Given the description of an element on the screen output the (x, y) to click on. 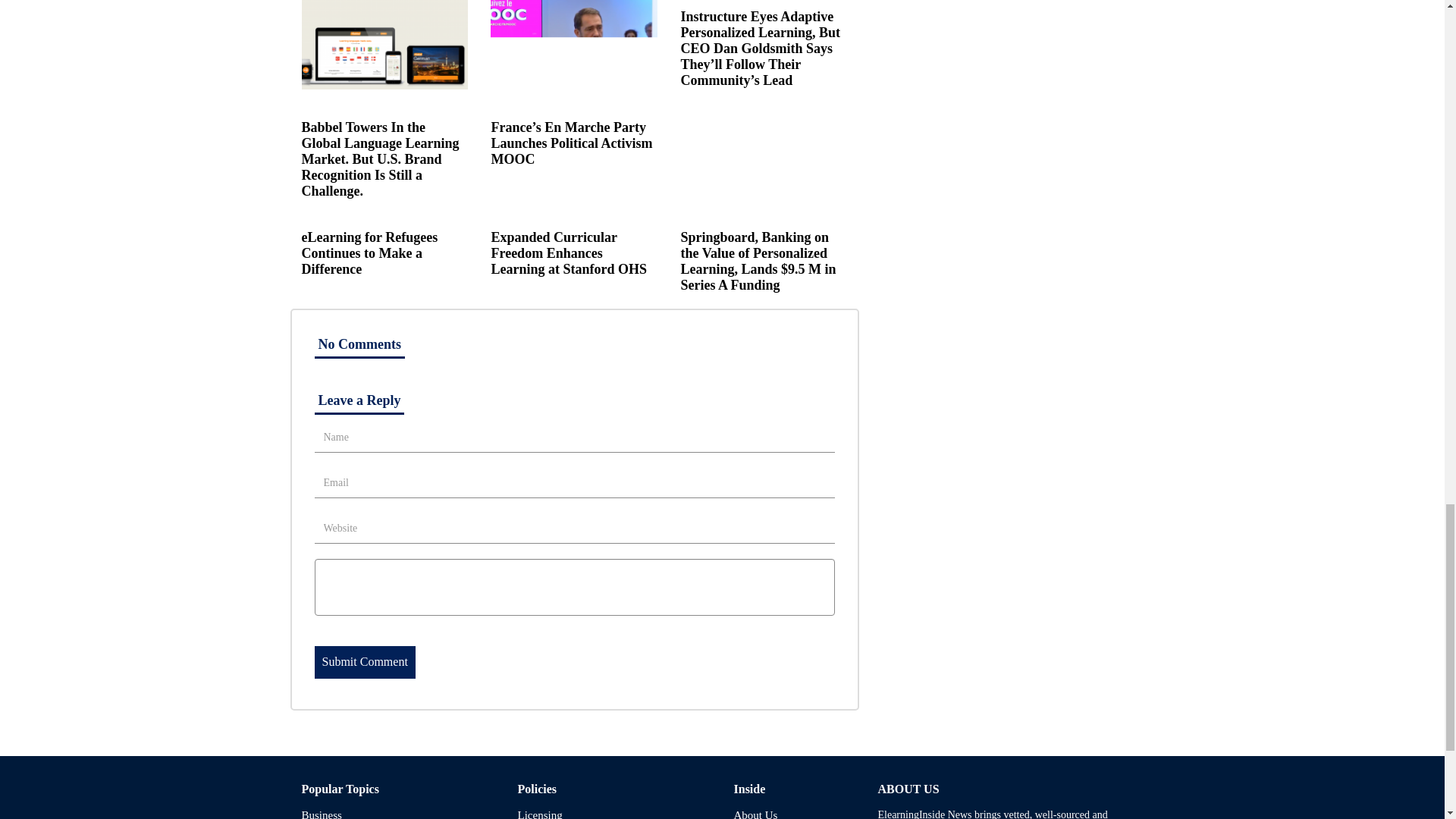
Submit Comment (364, 662)
Submit Comment (364, 662)
eLearning for Refugees Continues to Make a Difference (369, 253)
